Given the description of an element on the screen output the (x, y) to click on. 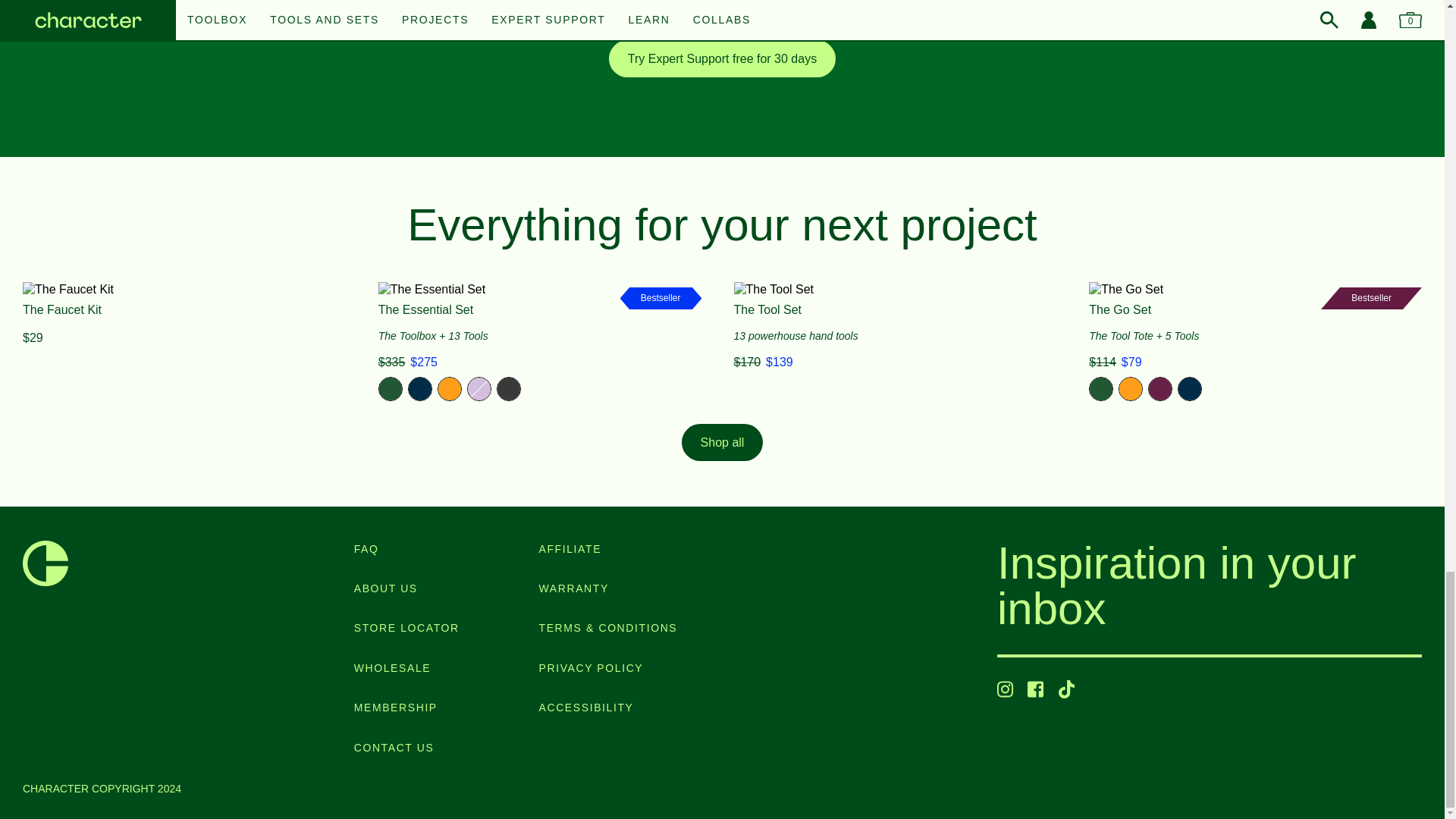
Site Logo (45, 563)
Character Logo - Icon (45, 563)
